Given the description of an element on the screen output the (x, y) to click on. 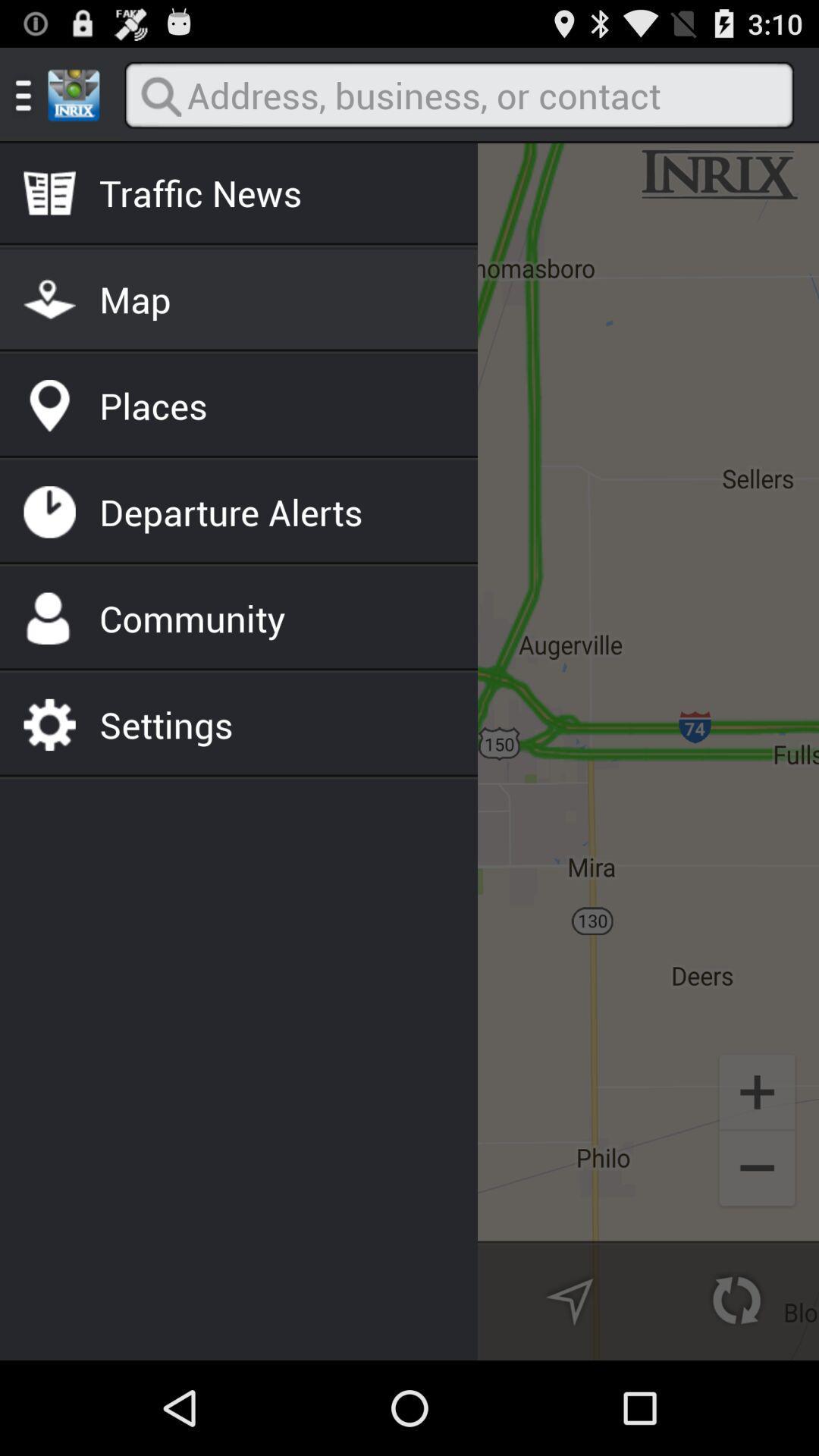
enter items into the search area (459, 94)
